Given the description of an element on the screen output the (x, y) to click on. 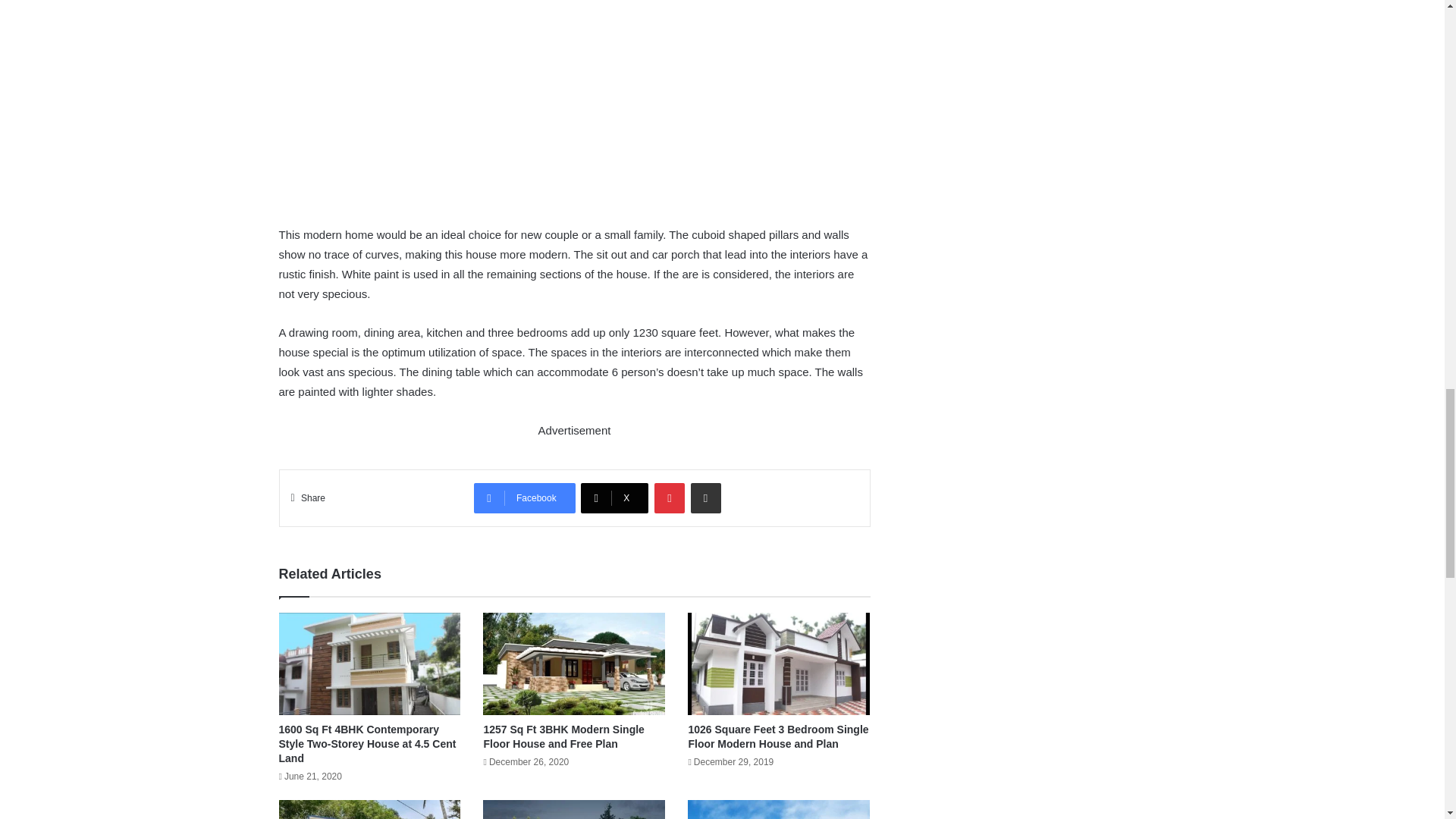
Facebook (524, 498)
Pinterest (668, 498)
Share via Email (705, 498)
X (613, 498)
Pinterest (668, 498)
X (613, 498)
Facebook (524, 498)
